Given the description of an element on the screen output the (x, y) to click on. 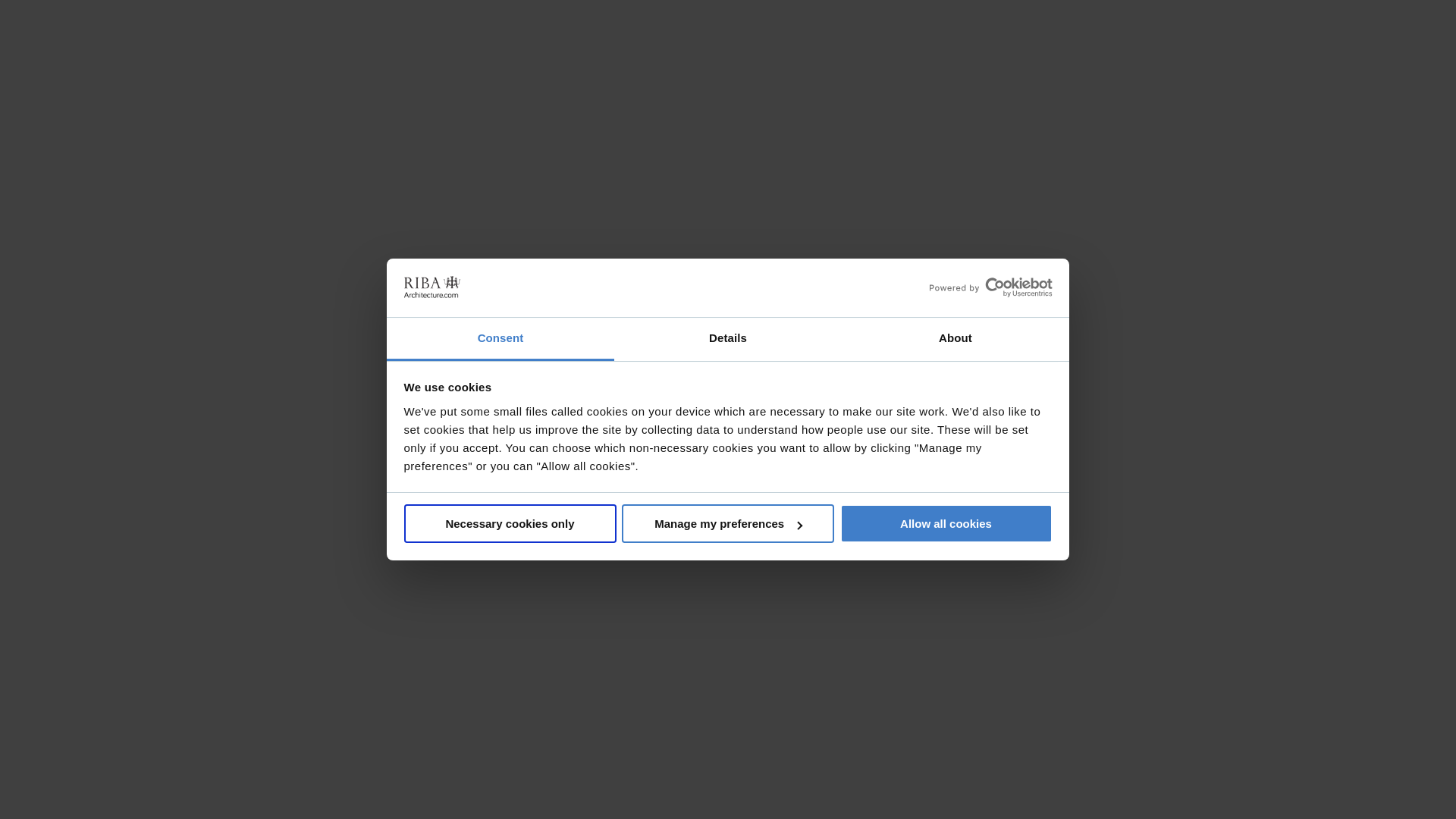
Consent (500, 339)
Allow all cookies (946, 523)
Search (1272, 69)
About (954, 339)
Manage my preferences (727, 523)
Search (1272, 69)
Necessary cookies only (509, 523)
Alhambra Theatre, Bradford:... (377, 185)
Alhambra Theatre, Bradford:... (1078, 185)
Details (727, 339)
